Given the description of an element on the screen output the (x, y) to click on. 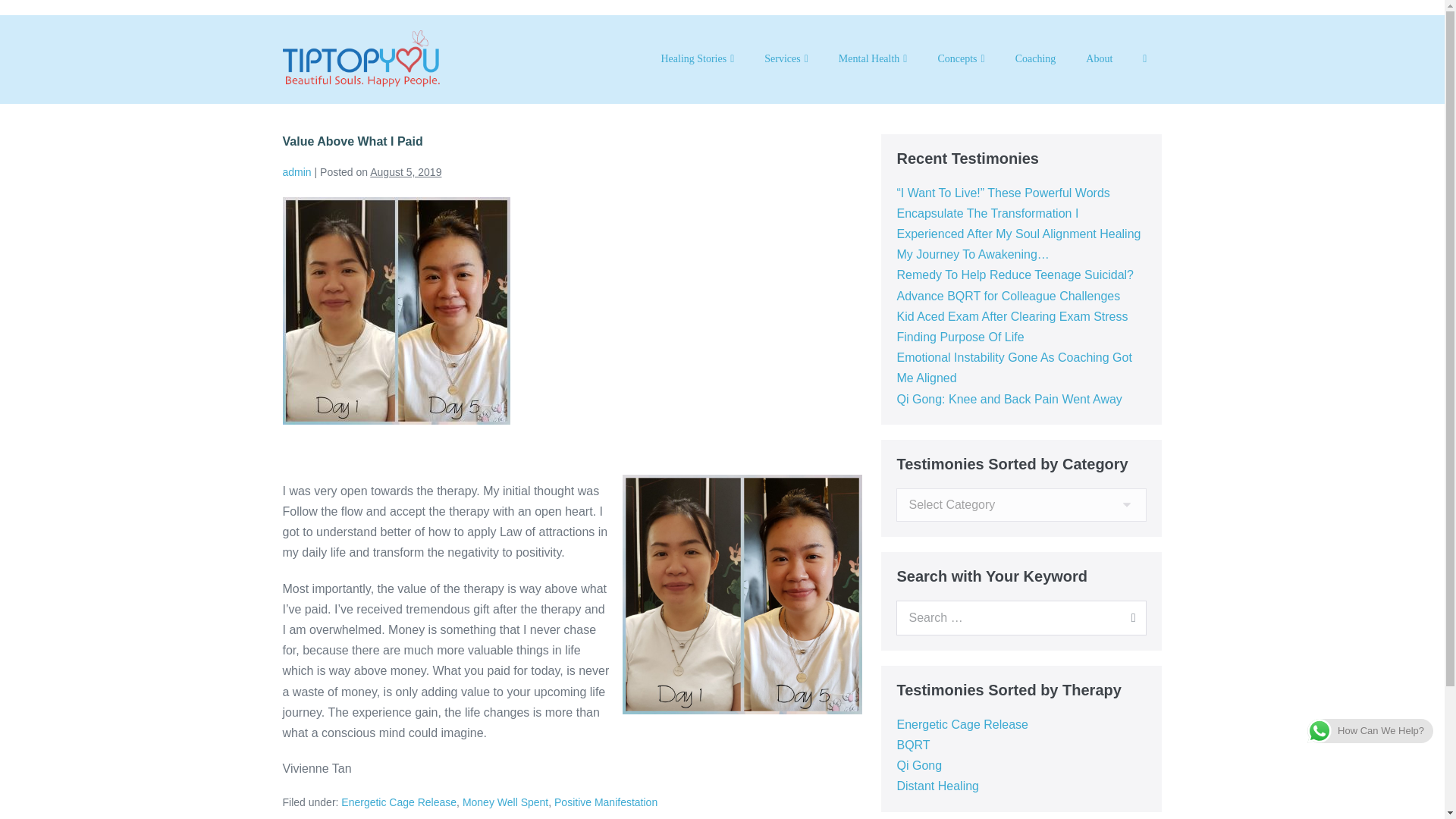
Healing Stories (697, 59)
Coaching (1035, 59)
Concepts (959, 59)
Value above what i paid (395, 311)
Mental Health (873, 59)
Search Toggle (1143, 59)
View all posts by admin (296, 172)
About (1098, 59)
Value above what i paid (742, 594)
Press enter to search (1021, 617)
